Given the description of an element on the screen output the (x, y) to click on. 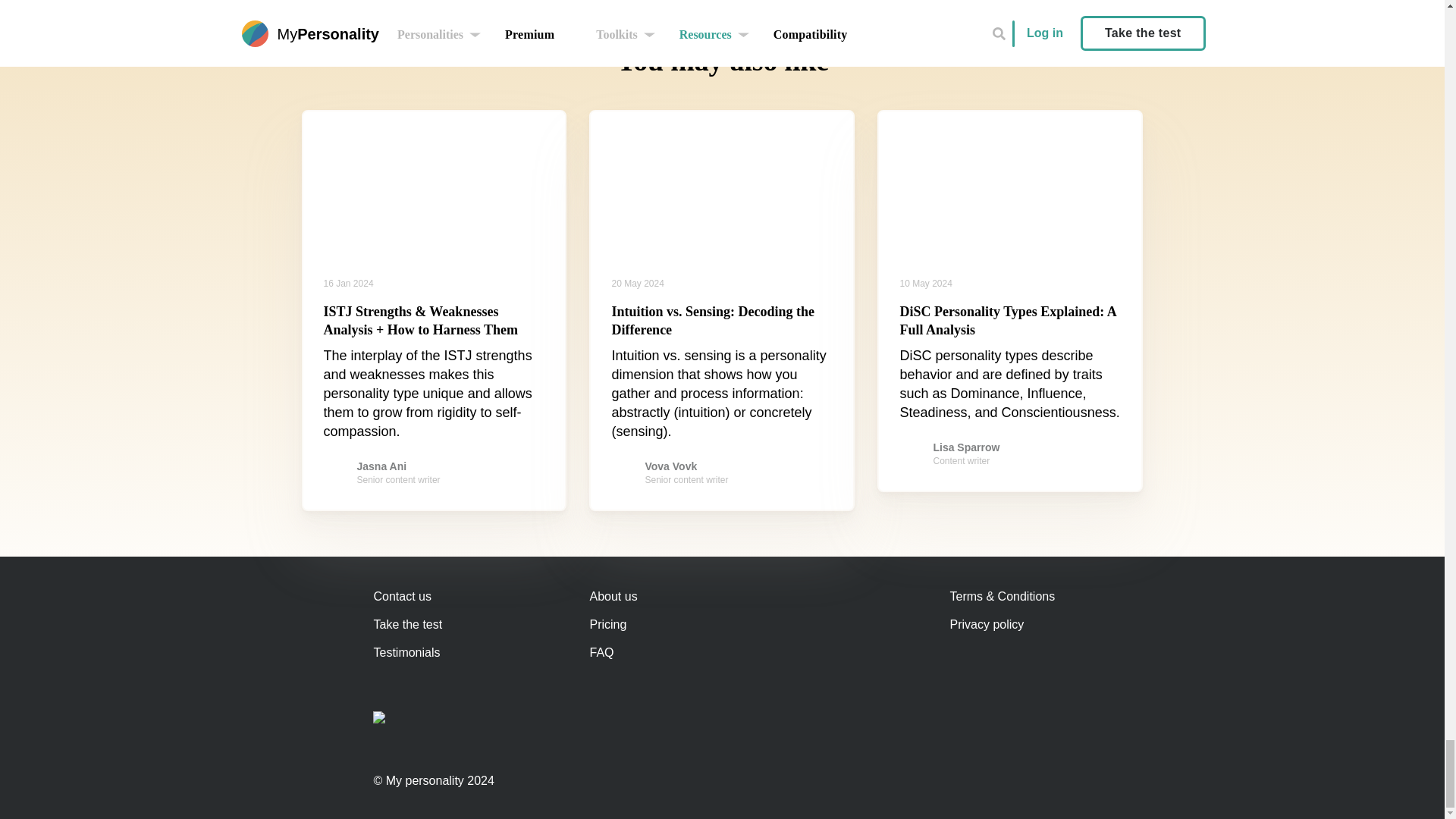
Open accessibility menu (395, 729)
